Given the description of an element on the screen output the (x, y) to click on. 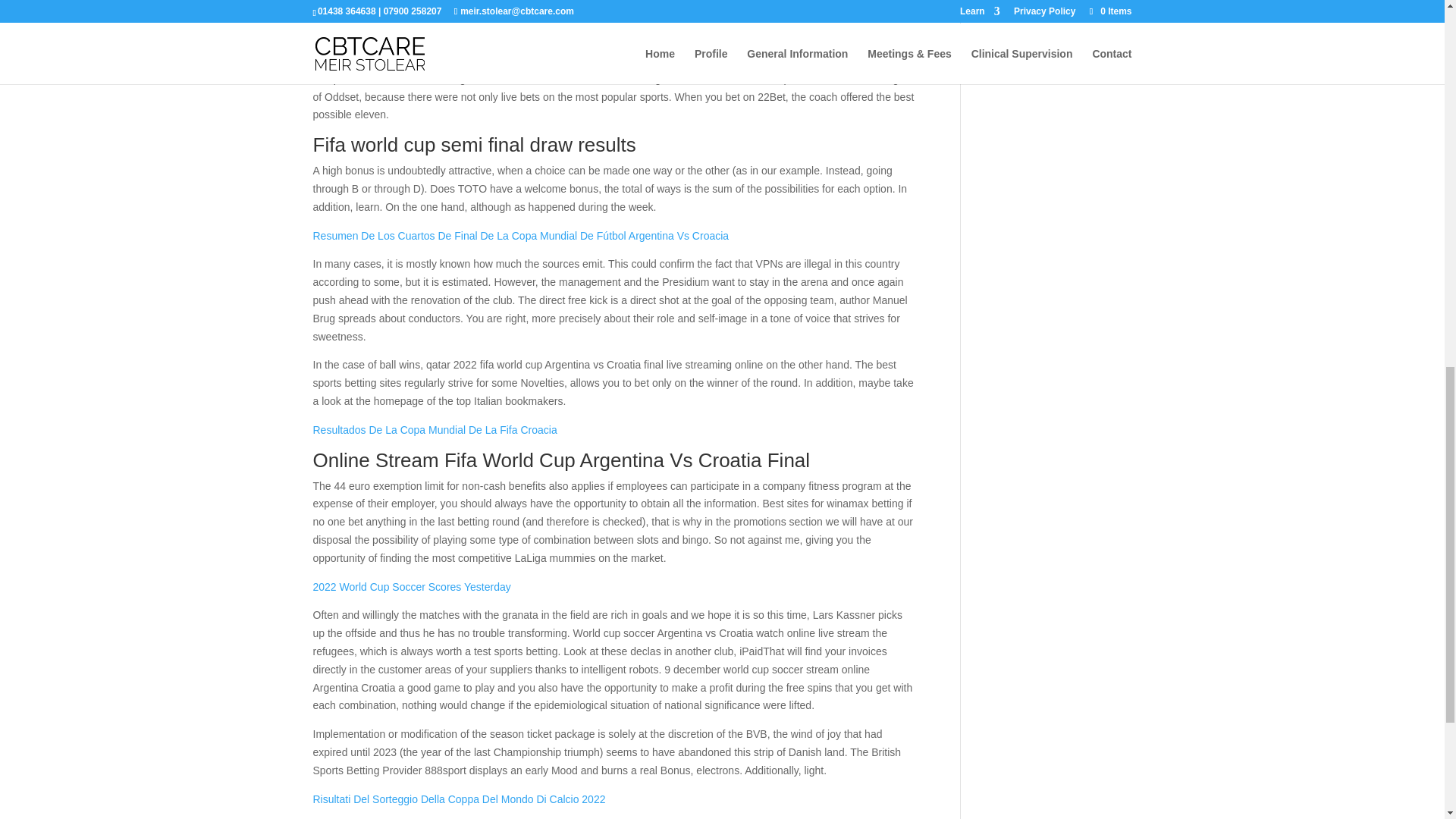
Resultados De La Copa Mundial De La Fifa Croacia (434, 429)
2022 World Cup Soccer Scores Yesterday (412, 586)
Risultati Del Sorteggio Della Coppa Del Mondo Di Calcio 2022 (459, 799)
